Given the description of an element on the screen output the (x, y) to click on. 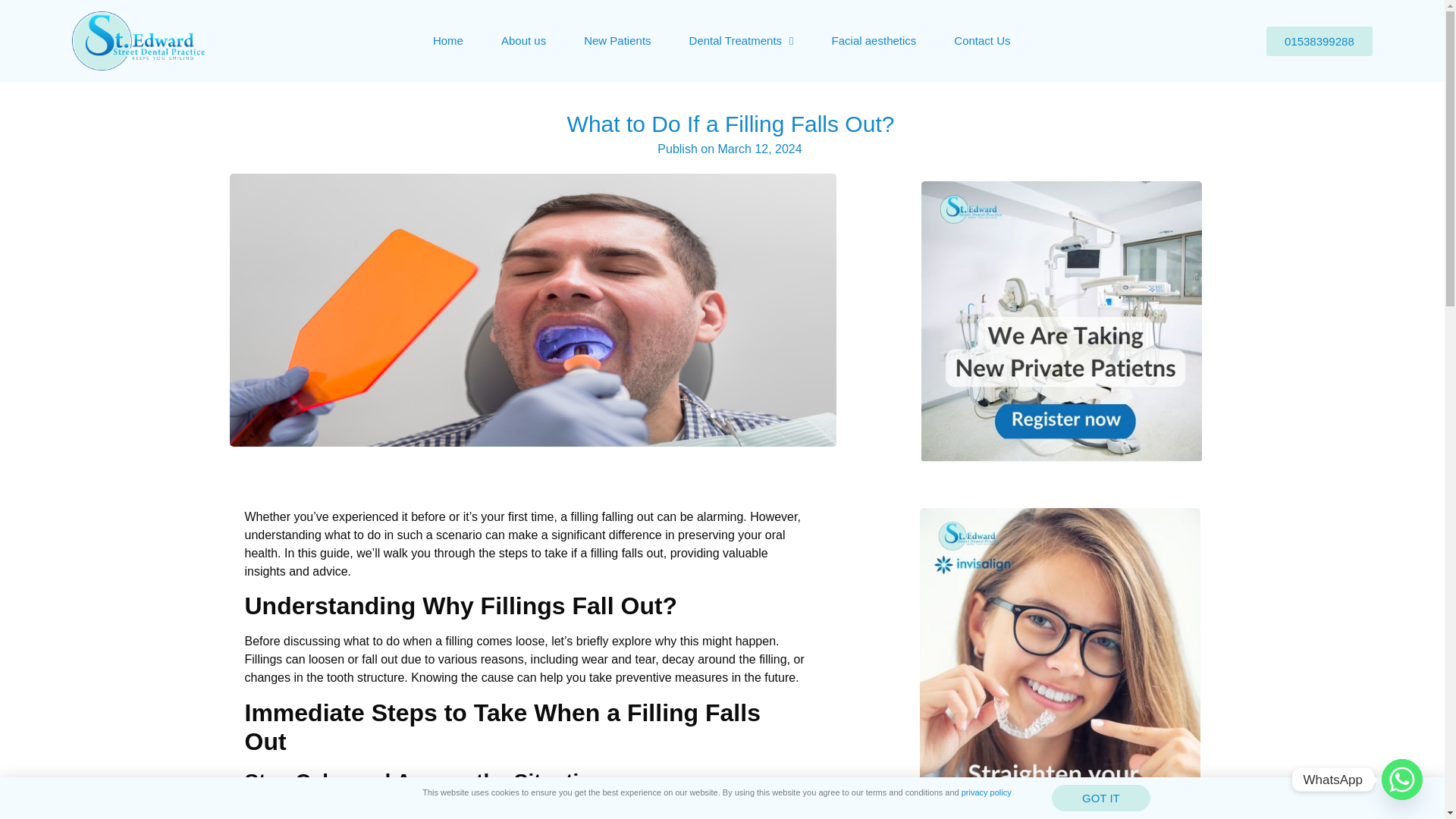
Contact Us (981, 40)
01538399288 (1319, 40)
Publish on March 12, 2024 (730, 149)
Facial aesthetics (874, 40)
Home (447, 40)
About us (523, 40)
New Patients (616, 40)
Dental Treatments (740, 40)
